Given the description of an element on the screen output the (x, y) to click on. 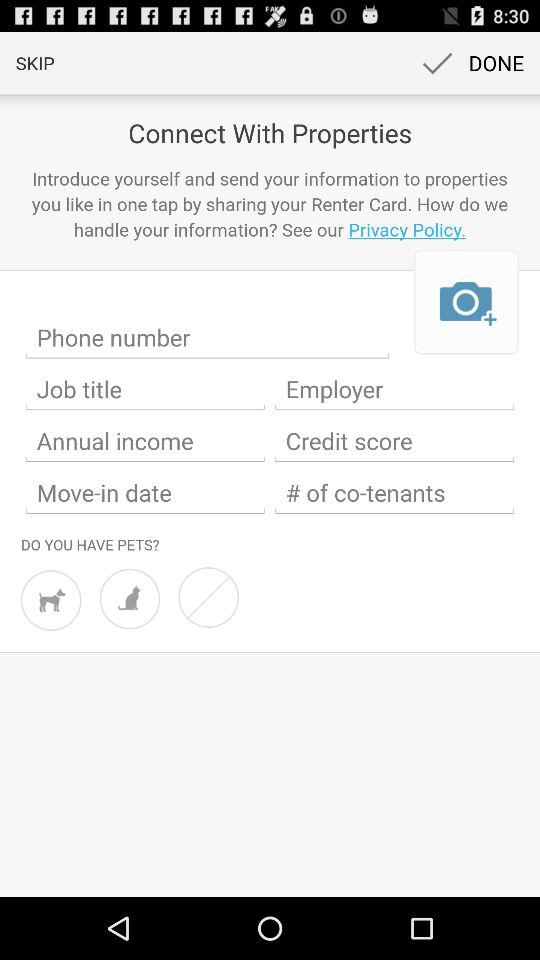
of co-tenants textbox (394, 493)
